Given the description of an element on the screen output the (x, y) to click on. 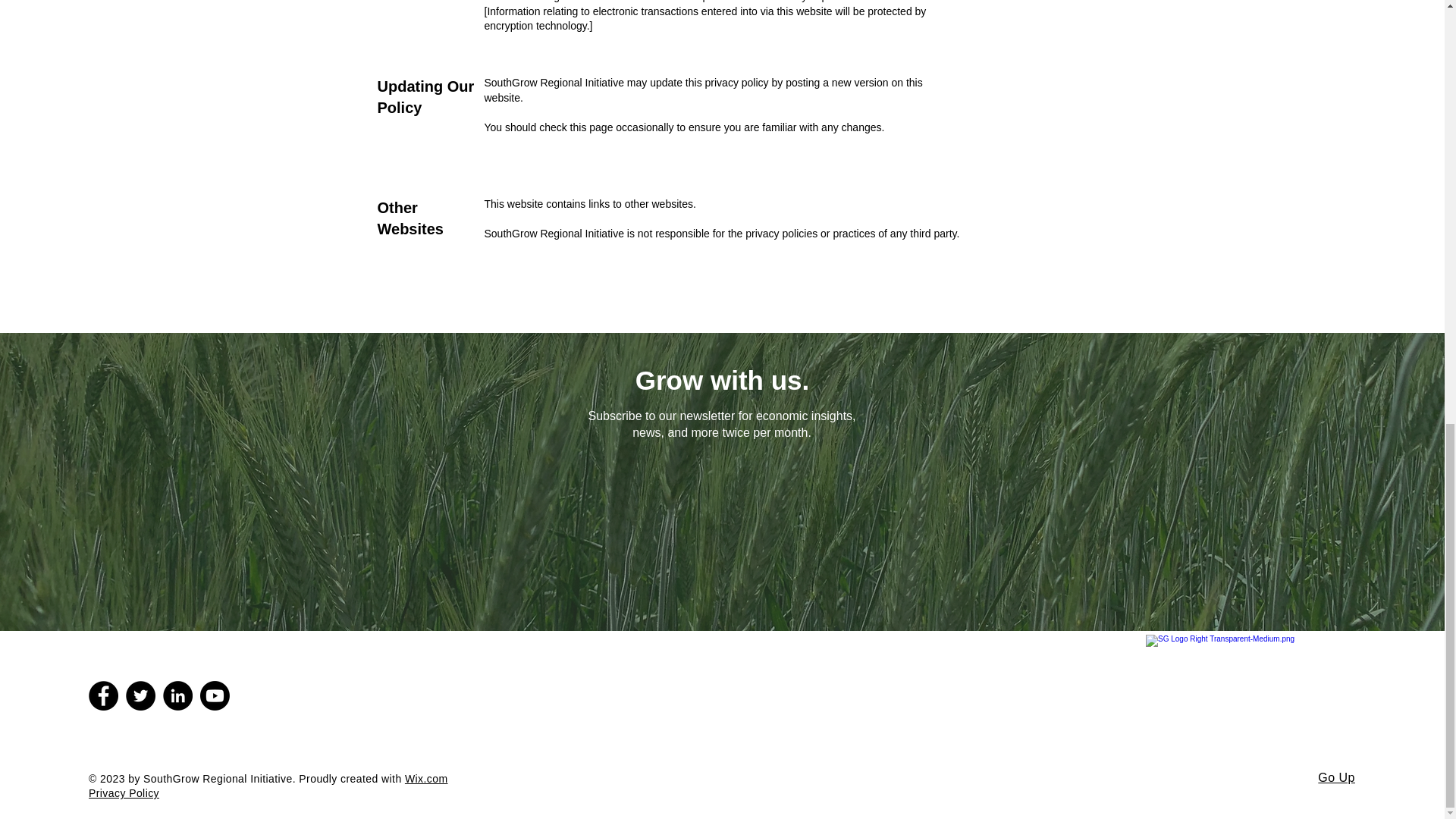
Wix.com (426, 778)
Privacy Policy (123, 793)
Go Up (1336, 777)
